Given the description of an element on the screen output the (x, y) to click on. 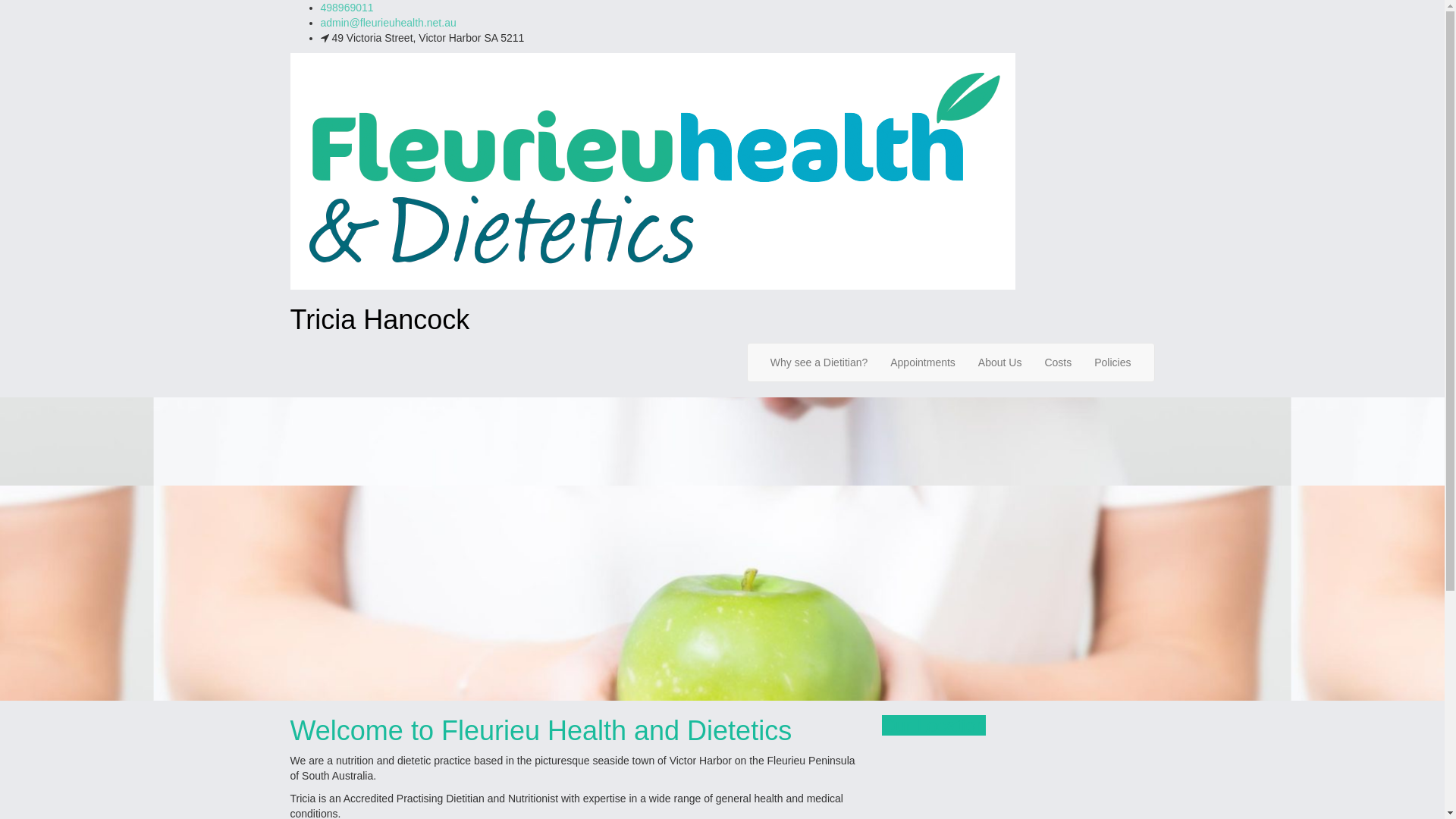
Why see a Dietitian? Element type: text (818, 362)
Tricia Hancock Element type: hover (651, 170)
498969011 Element type: text (346, 7)
Costs Element type: text (1057, 362)
Appointments Element type: text (922, 362)
Tricia Hancock Element type: text (379, 319)
admin@fleurieuhealth.net.au Element type: text (387, 22)
About Us Element type: text (999, 362)
Policies Element type: text (1112, 362)
